Given the description of an element on the screen output the (x, y) to click on. 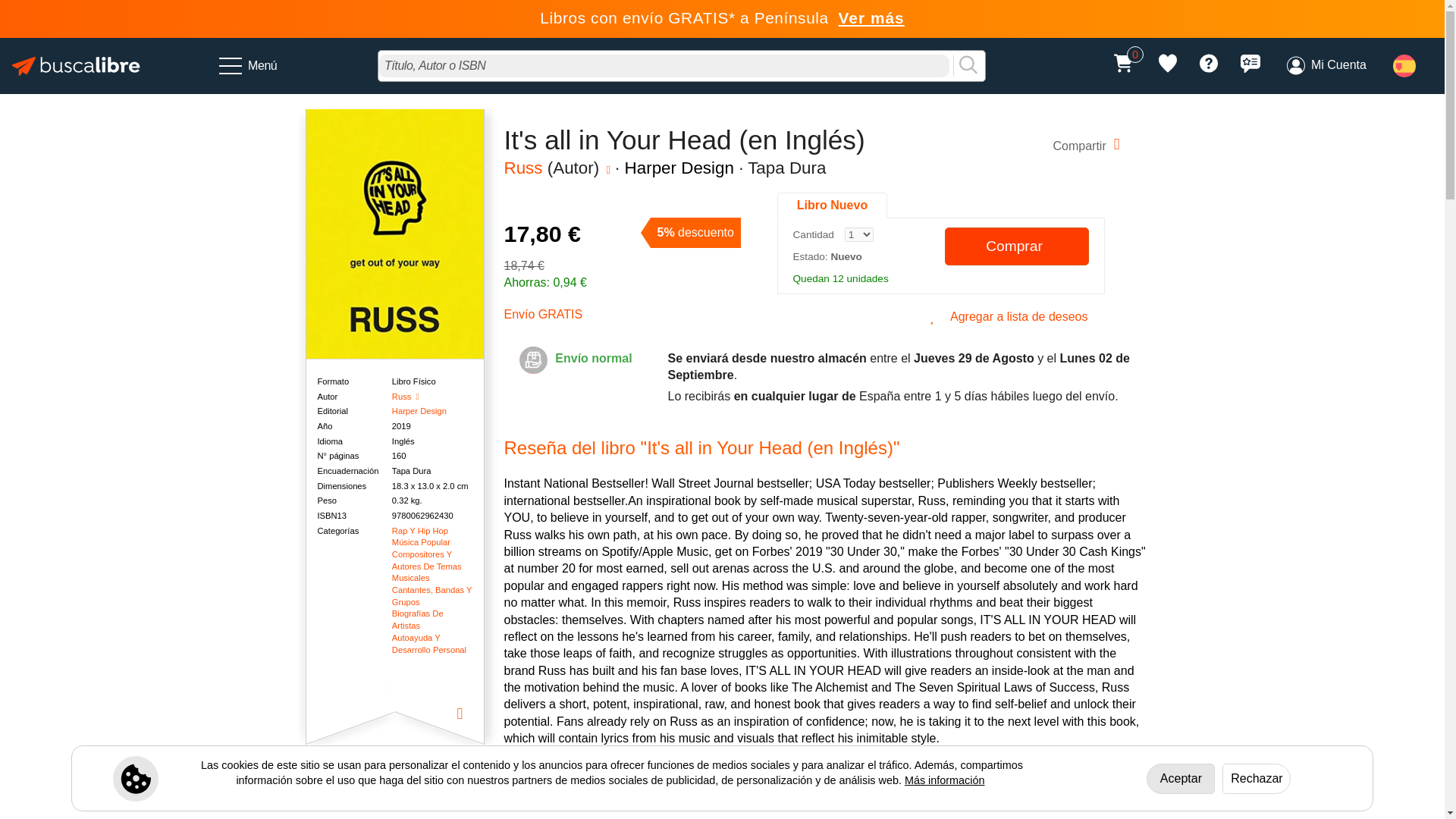
Mi Cuenta (1326, 64)
Buscalibre.com (75, 65)
Mi Cuenta (1326, 64)
Buscar (968, 65)
